Given the description of an element on the screen output the (x, y) to click on. 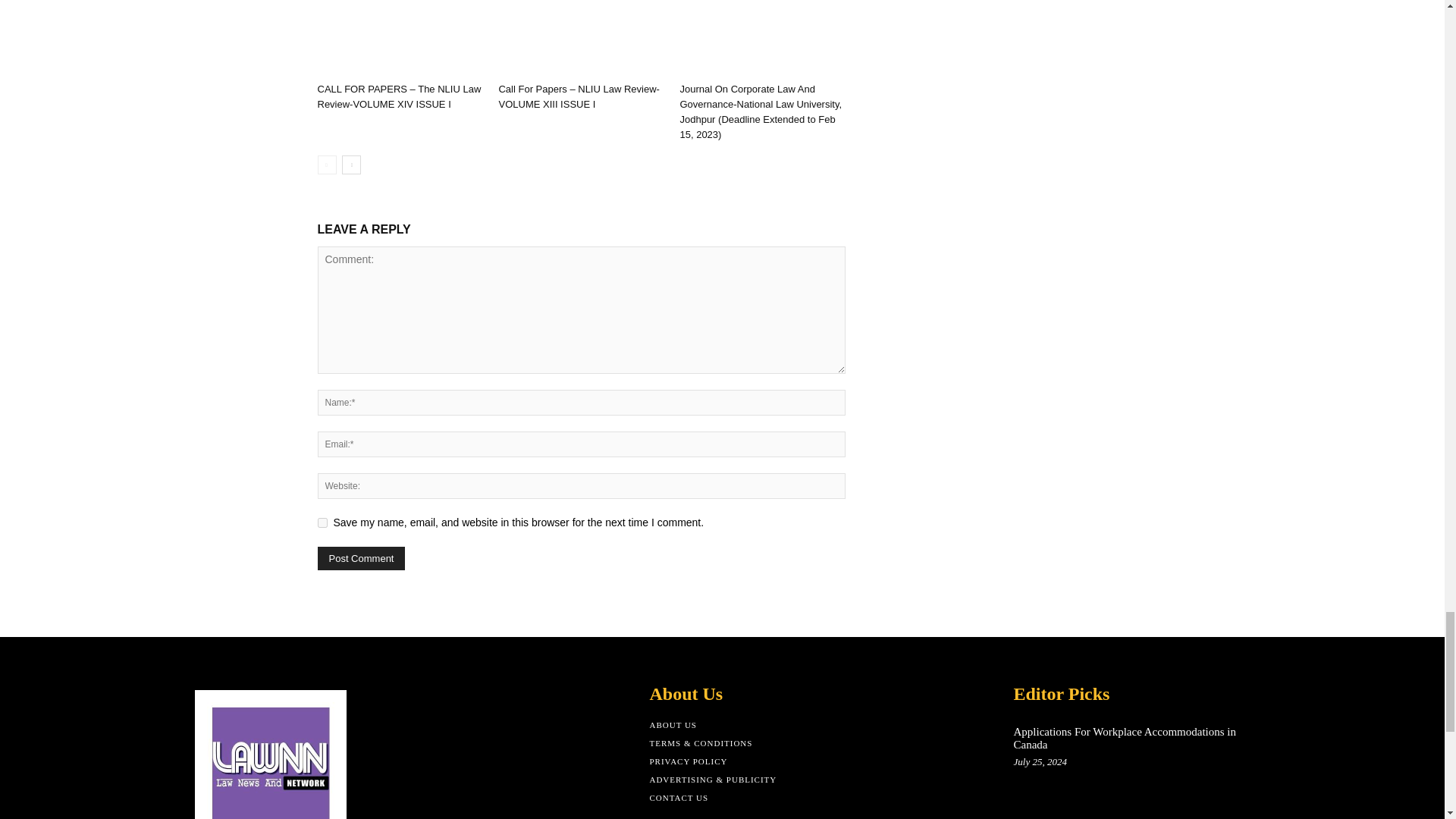
yes (321, 522)
Post Comment (360, 558)
